Given the description of an element on the screen output the (x, y) to click on. 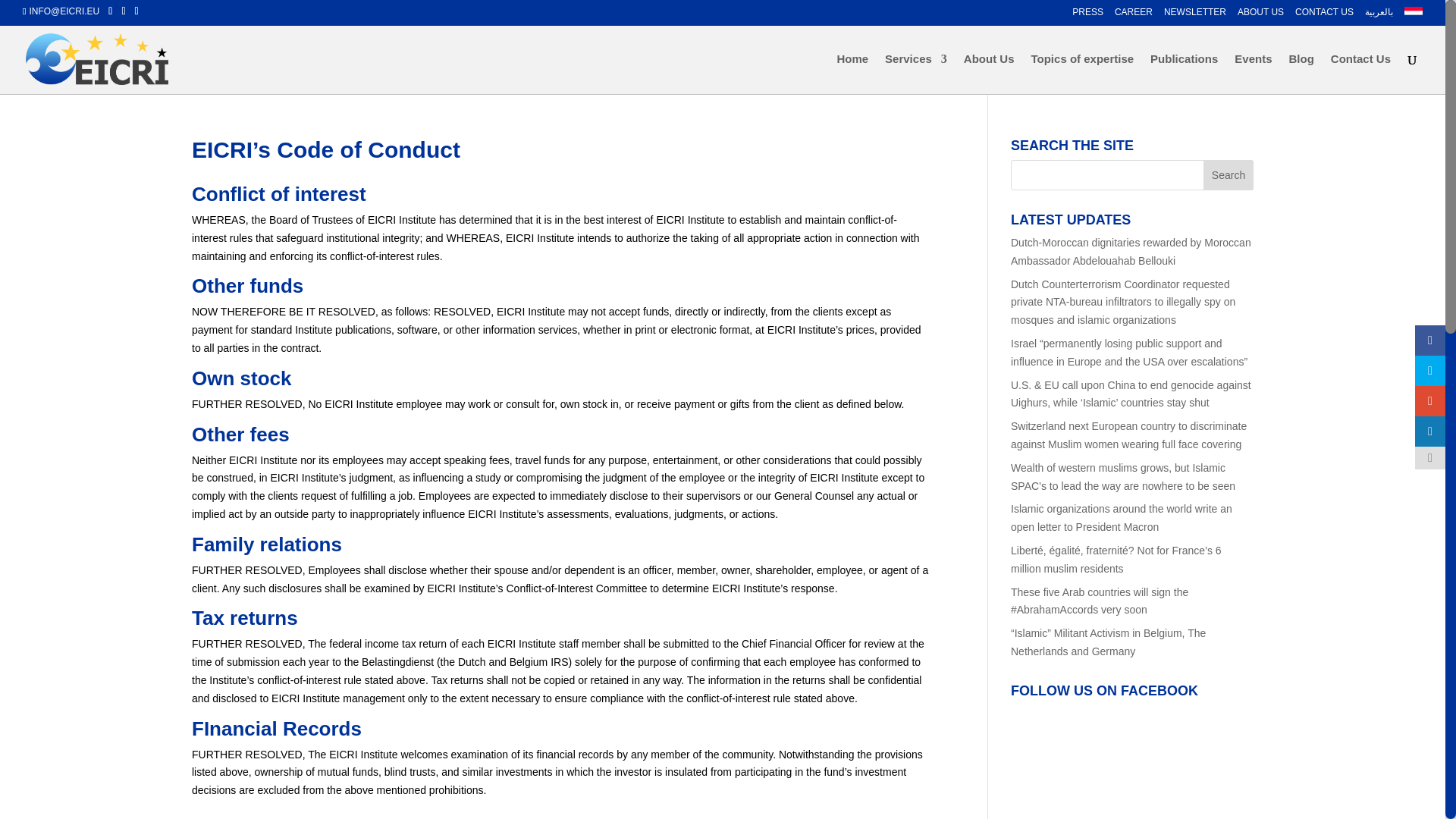
Publications (1183, 74)
CAREER (1134, 15)
Events (1252, 74)
NEWSLETTER (1194, 15)
ABOUT US (1260, 15)
Search (1228, 174)
Contact Us (1360, 74)
PRESS (1087, 15)
Services (916, 74)
Topics of expertise (1082, 74)
